Given the description of an element on the screen output the (x, y) to click on. 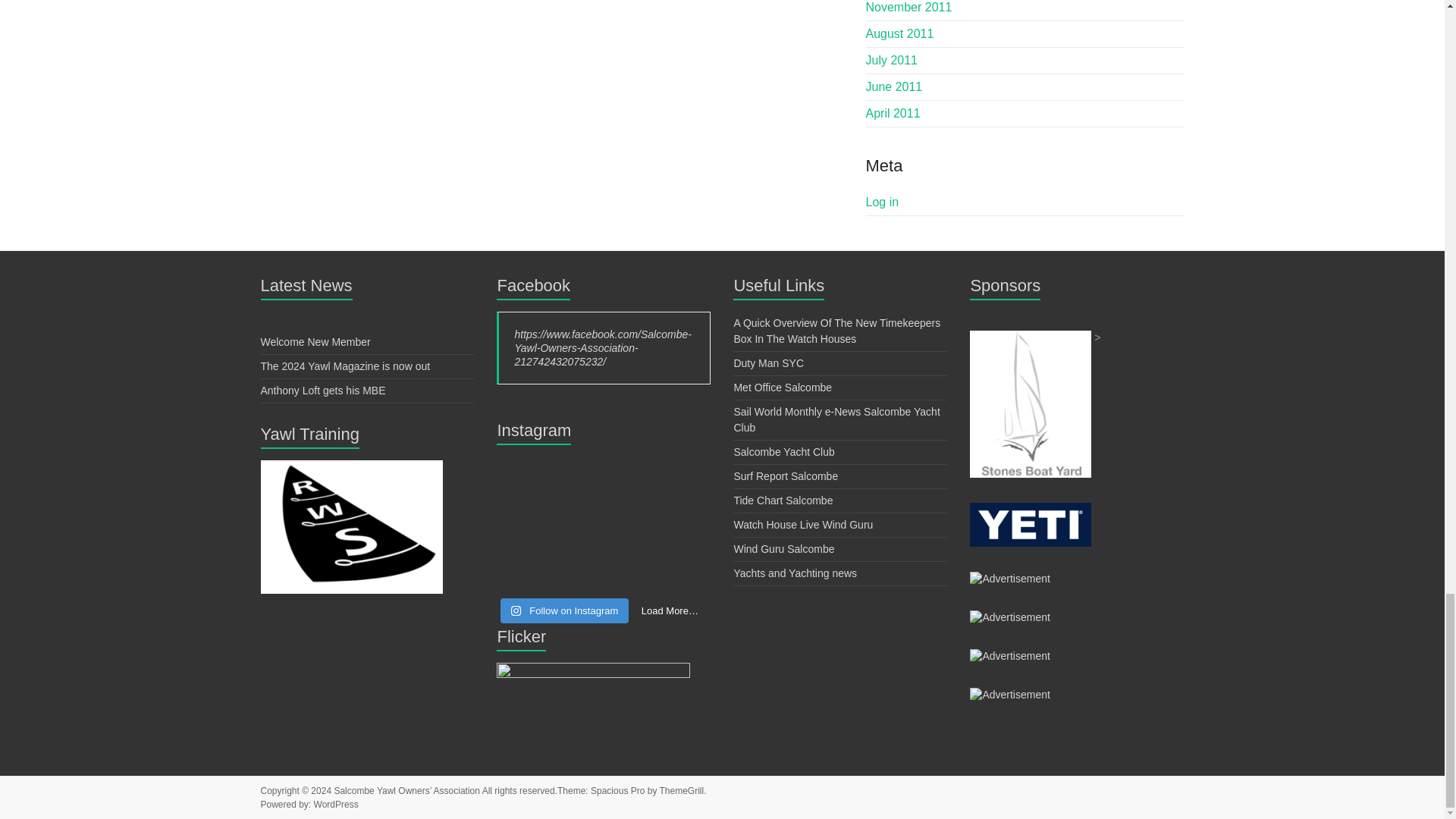
Advertisement (1009, 616)
Advertisement (1029, 337)
Advertisement (1009, 694)
Advertisement (1029, 509)
See my photos on Flickr! (593, 669)
Advertisement (1009, 578)
Advertisement (1009, 655)
Advertisement (351, 467)
